Given the description of an element on the screen output the (x, y) to click on. 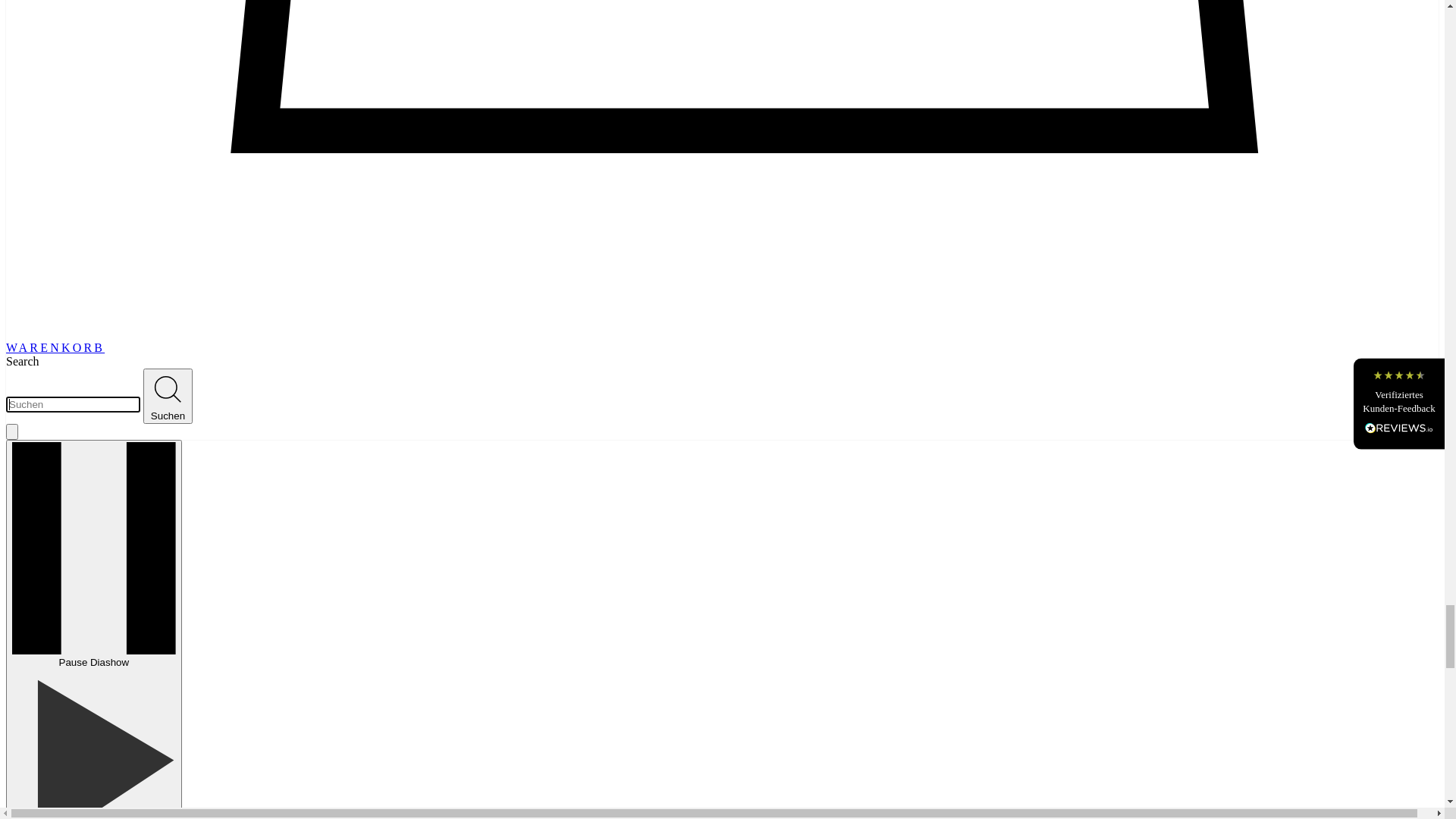
Quarzuhren Element type: text (137, 329)
Herrenuhren Element type: text (138, 370)
Angebote Element type: text (131, 424)
Schmuck Element type: text (99, 460)
SHOP Element type: text (58, 154)
CH Element type: text (36, 30)
Solar Uhren Element type: text (137, 383)
Topseller Element type: text (130, 243)
Halsketten Element type: text (134, 510)
Limited Edition Element type: text (146, 257)
Alles in Schmuck Element type: text (151, 482)
Topseller Element type: text (130, 410)
HILFE & KONTAKT Element type: text (119, 566)
Neuheiten Element type: text (133, 229)
Neuheiten Element type: text (133, 397)
Direkt zum Inhalt Element type: text (49, 12)
Alle Uhren Element type: text (135, 301)
Ohrringe Element type: text (130, 537)
Automatikuhren Element type: text (148, 315)
Angebote Element type: text (131, 496)
Taschenuhren Element type: text (141, 342)
Uhren Element type: text (91, 279)
Damenuhren Element type: text (139, 356)
City Watch Element type: text (135, 438)
